Given the description of an element on the screen output the (x, y) to click on. 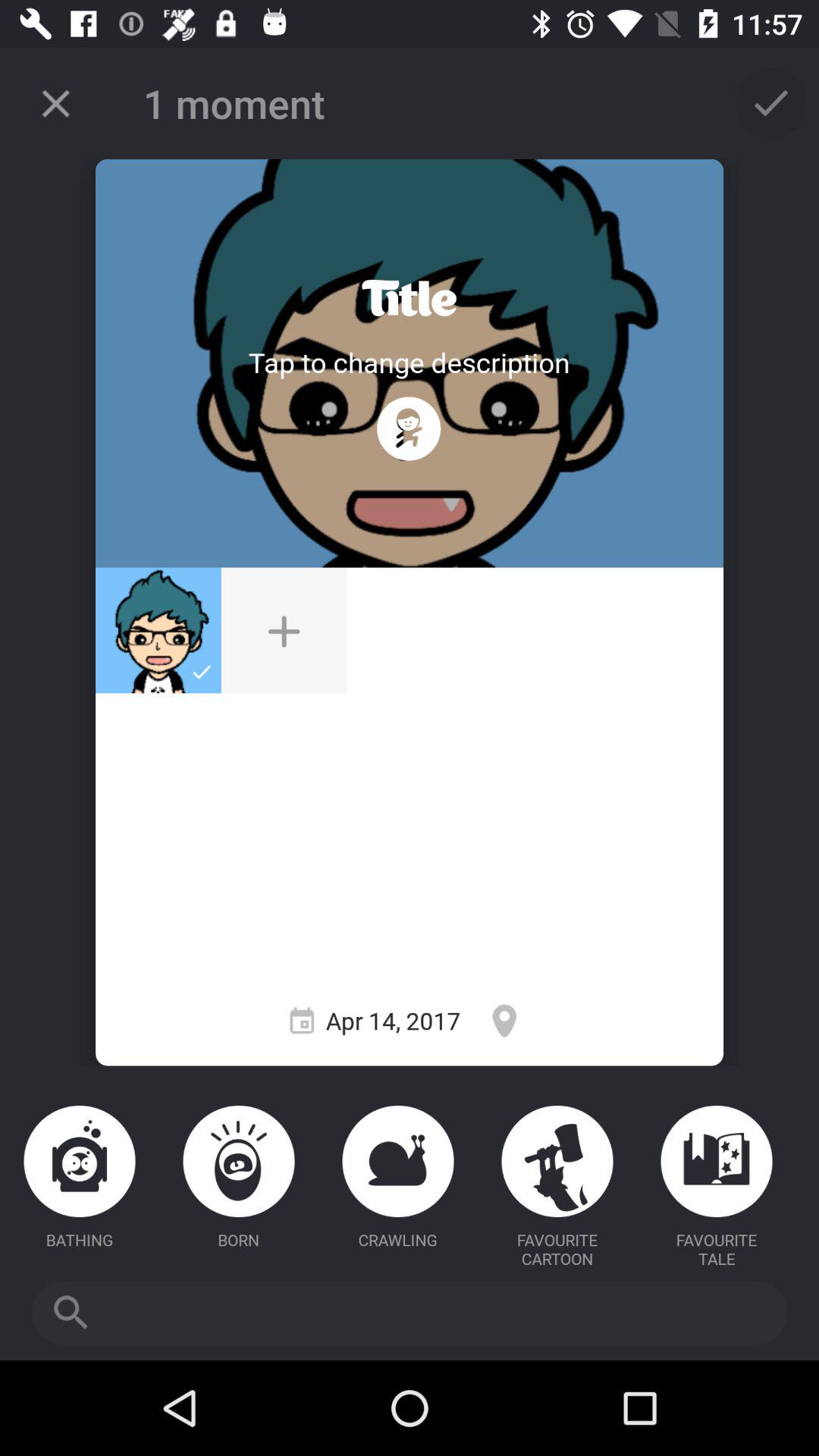
add button (283, 630)
